Given the description of an element on the screen output the (x, y) to click on. 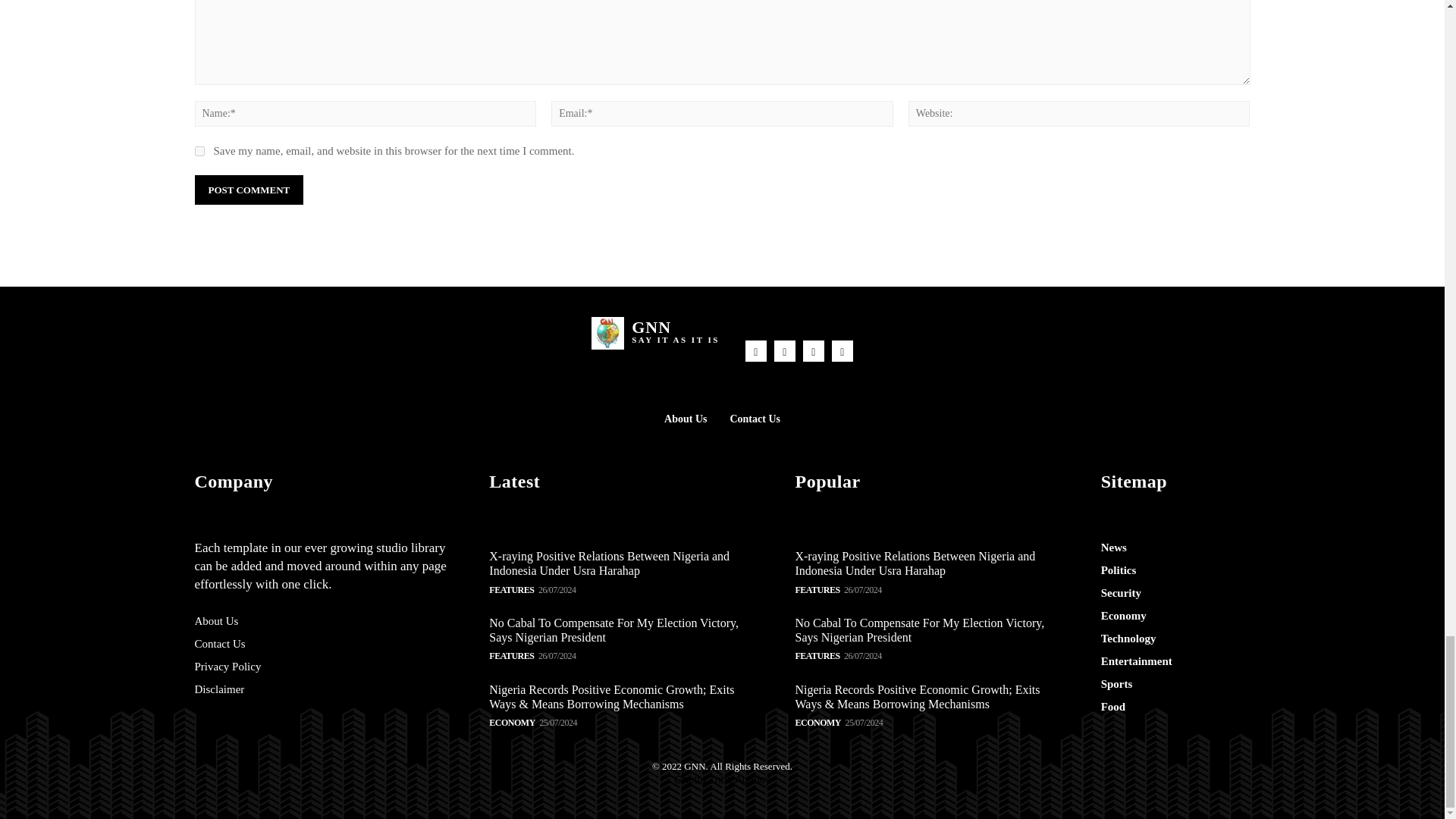
Post Comment (247, 189)
yes (198, 151)
